Given the description of an element on the screen output the (x, y) to click on. 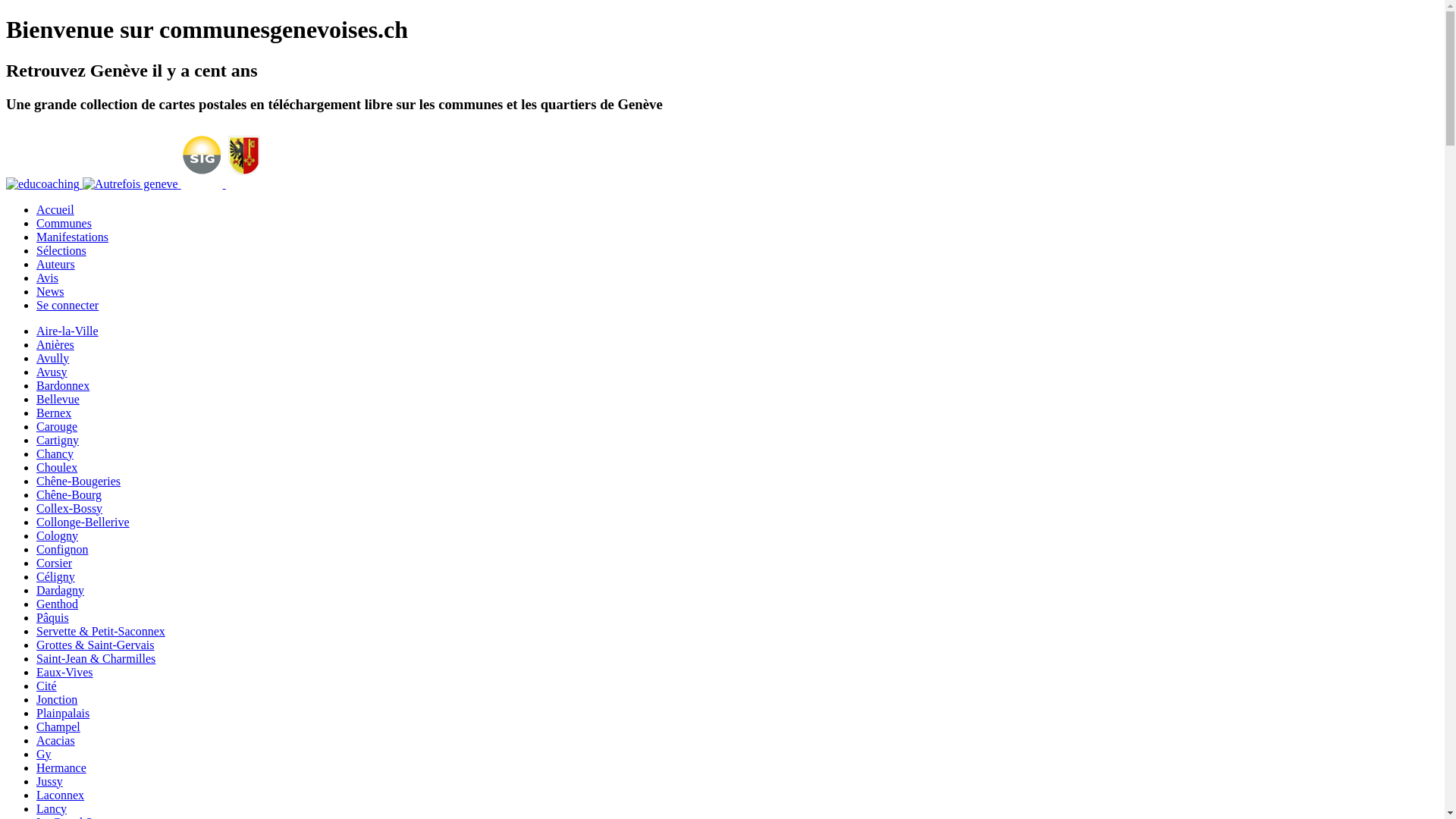
Jonction Element type: text (56, 699)
Corsier Element type: text (54, 562)
Laconnex Element type: text (60, 794)
Dardagny Element type: text (60, 589)
Avully Element type: text (52, 357)
Choulex Element type: text (56, 467)
Jussy Element type: text (49, 781)
Communes Element type: text (63, 222)
Accueil Element type: text (55, 209)
Collonge-Bellerive Element type: text (82, 521)
Bernex Element type: text (53, 412)
Se connecter Element type: text (67, 304)
Acacias Element type: text (55, 740)
Cologny Element type: text (57, 535)
News Element type: text (49, 291)
Manifestations Element type: text (72, 236)
Cartigny Element type: text (57, 439)
Collex-Bossy Element type: text (69, 508)
Bardonnex Element type: text (62, 385)
Gy Element type: text (43, 753)
Eaux-Vives Element type: text (64, 671)
Saint-Jean & Charmilles Element type: text (95, 658)
Grottes & Saint-Gervais Element type: text (95, 644)
Plainpalais Element type: text (62, 712)
Avis Element type: text (47, 277)
Hermance Element type: text (61, 767)
Carouge Element type: text (56, 426)
Champel Element type: text (58, 726)
Avusy Element type: text (51, 371)
Chancy Element type: text (54, 453)
Lancy Element type: text (51, 808)
Bellevue Element type: text (57, 398)
Aire-la-Ville Element type: text (67, 330)
Auteurs Element type: text (55, 263)
Servette & Petit-Saconnex Element type: text (100, 630)
Genthod Element type: text (57, 603)
Confignon Element type: text (61, 548)
